Given the description of an element on the screen output the (x, y) to click on. 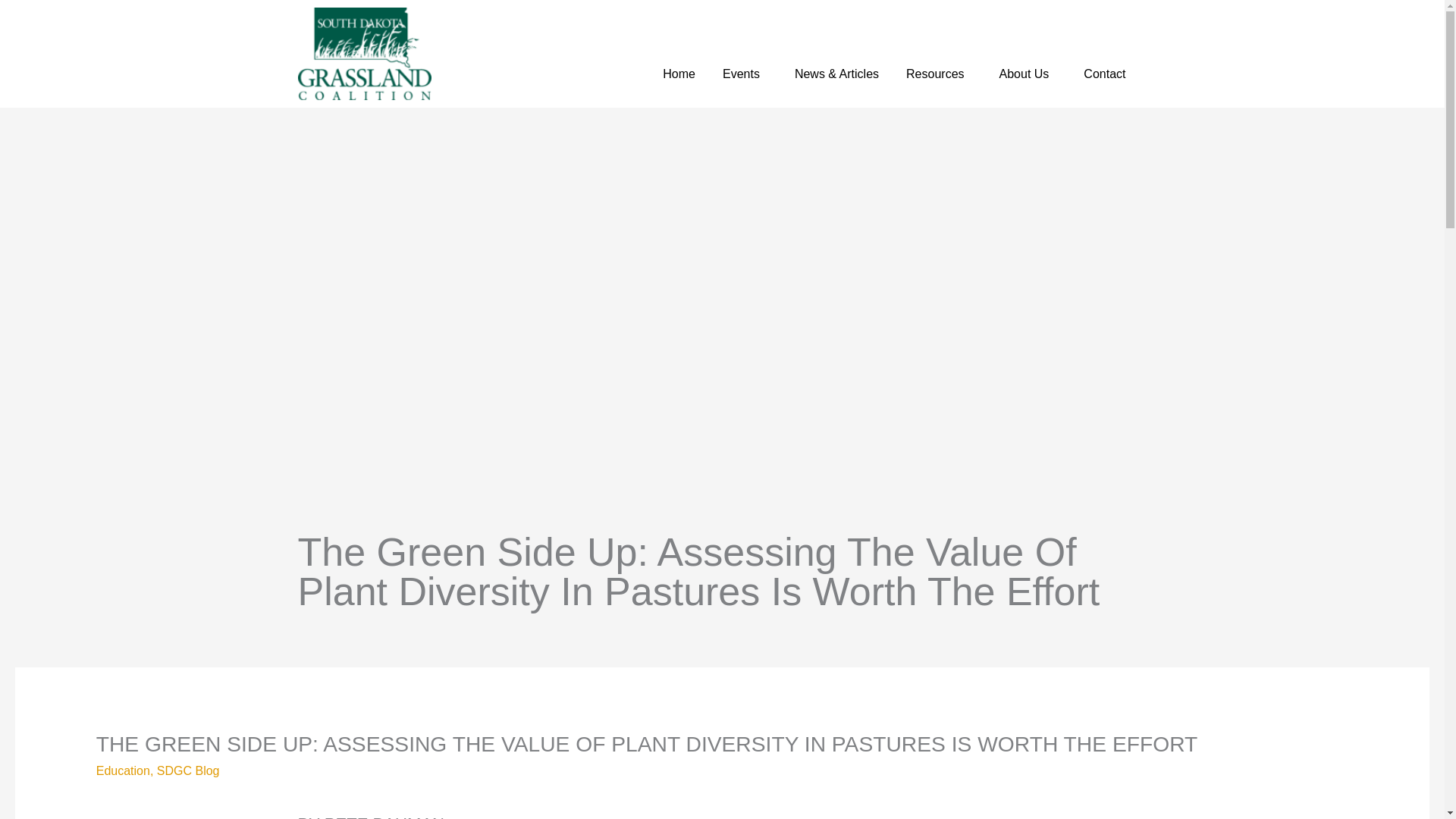
Education (122, 770)
Home (679, 73)
Resources (938, 73)
Contact (1108, 73)
SDGC Blog (188, 770)
About Us (1027, 73)
Events (744, 73)
